Given the description of an element on the screen output the (x, y) to click on. 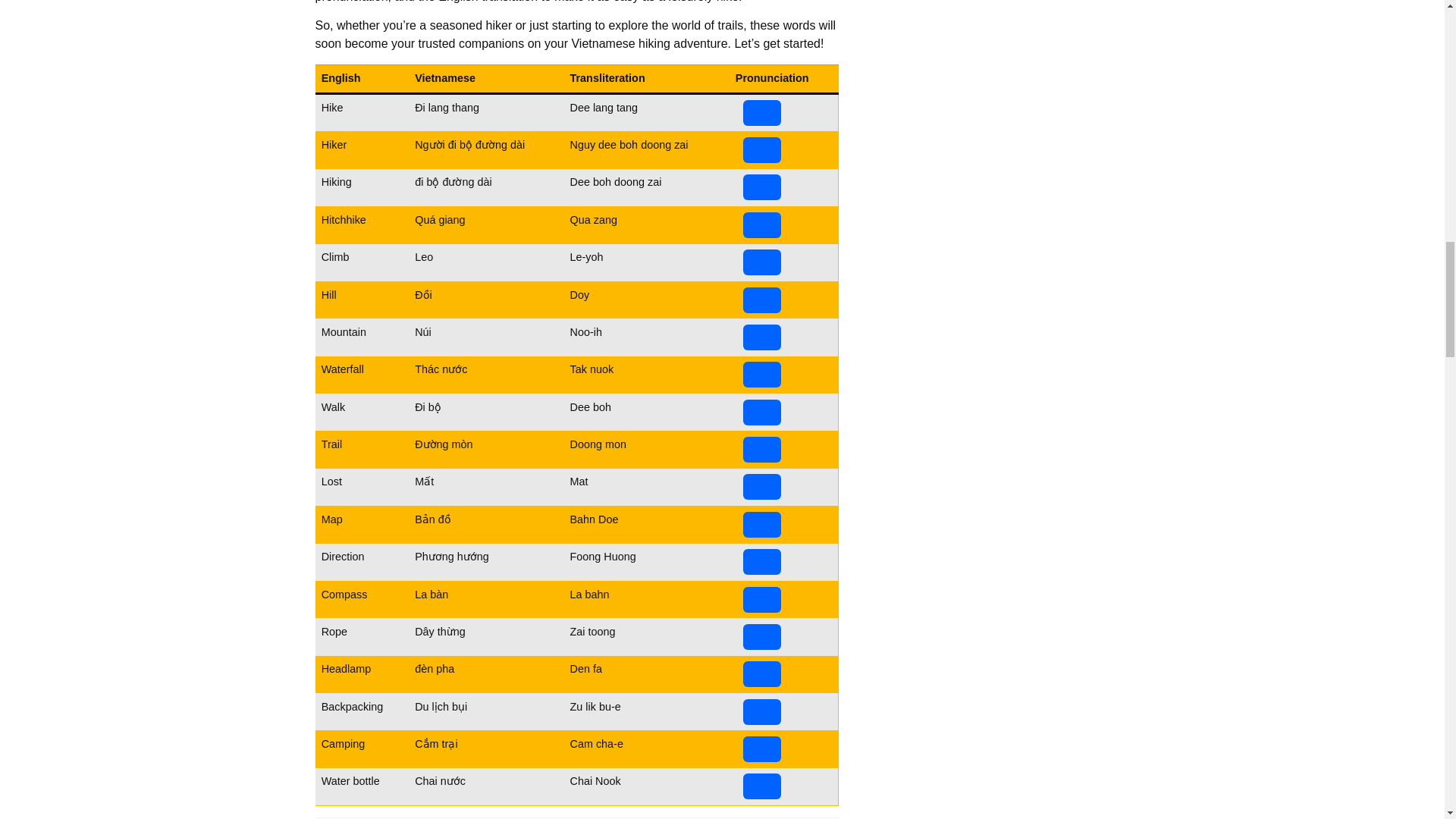
Play (761, 486)
Play (761, 262)
Play (761, 225)
Play (761, 299)
Play (761, 112)
Play (761, 412)
Play (761, 449)
Play (761, 374)
Play (761, 524)
Play (761, 149)
